Given the description of an element on the screen output the (x, y) to click on. 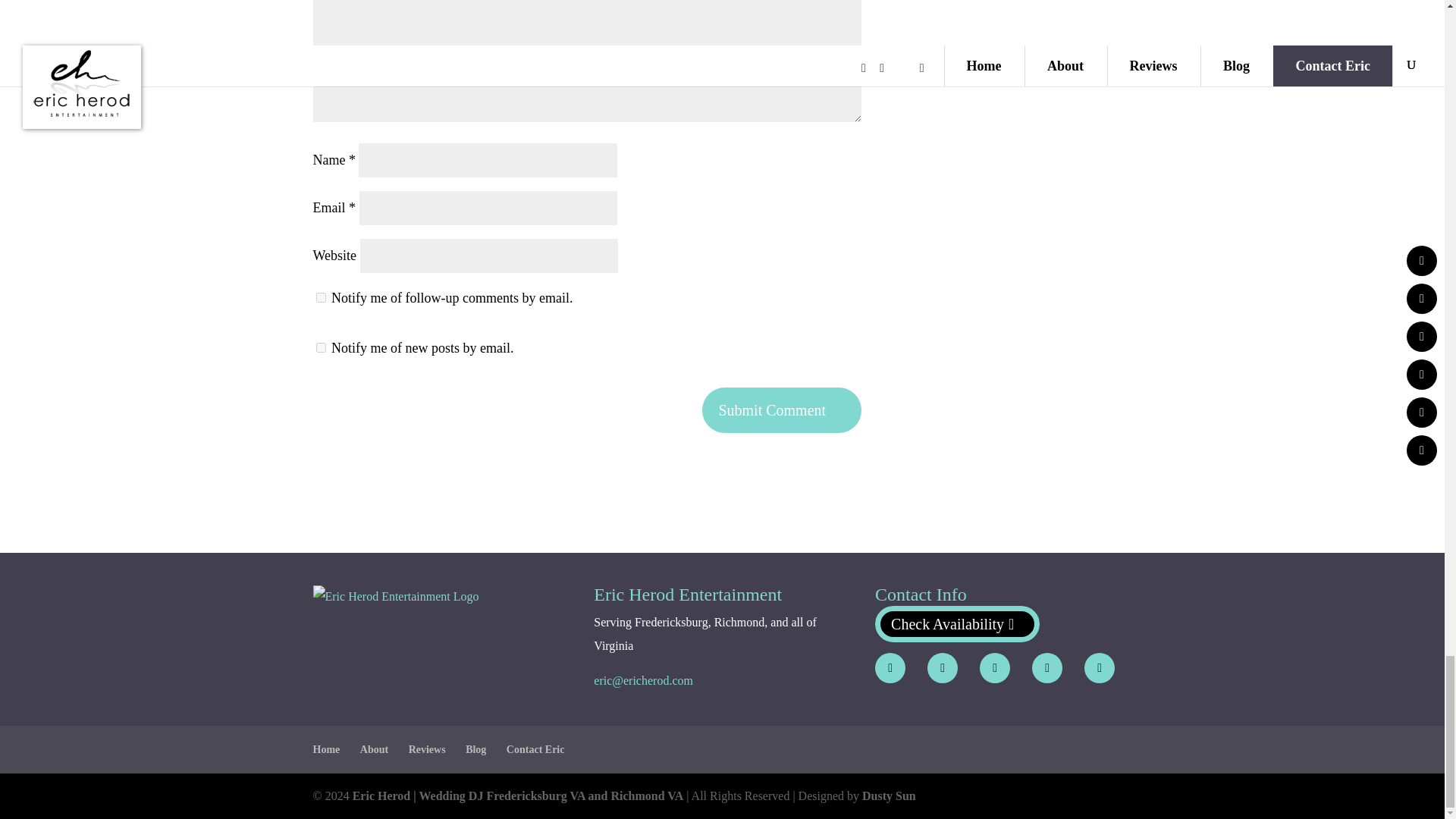
Contact Eric (535, 749)
Dusty Sun (888, 795)
About (373, 749)
subscribe (319, 347)
Blog (475, 749)
Submit Comment (781, 410)
subscribe (319, 297)
Check Availability (957, 624)
Reviews (427, 749)
Home (326, 749)
